Given the description of an element on the screen output the (x, y) to click on. 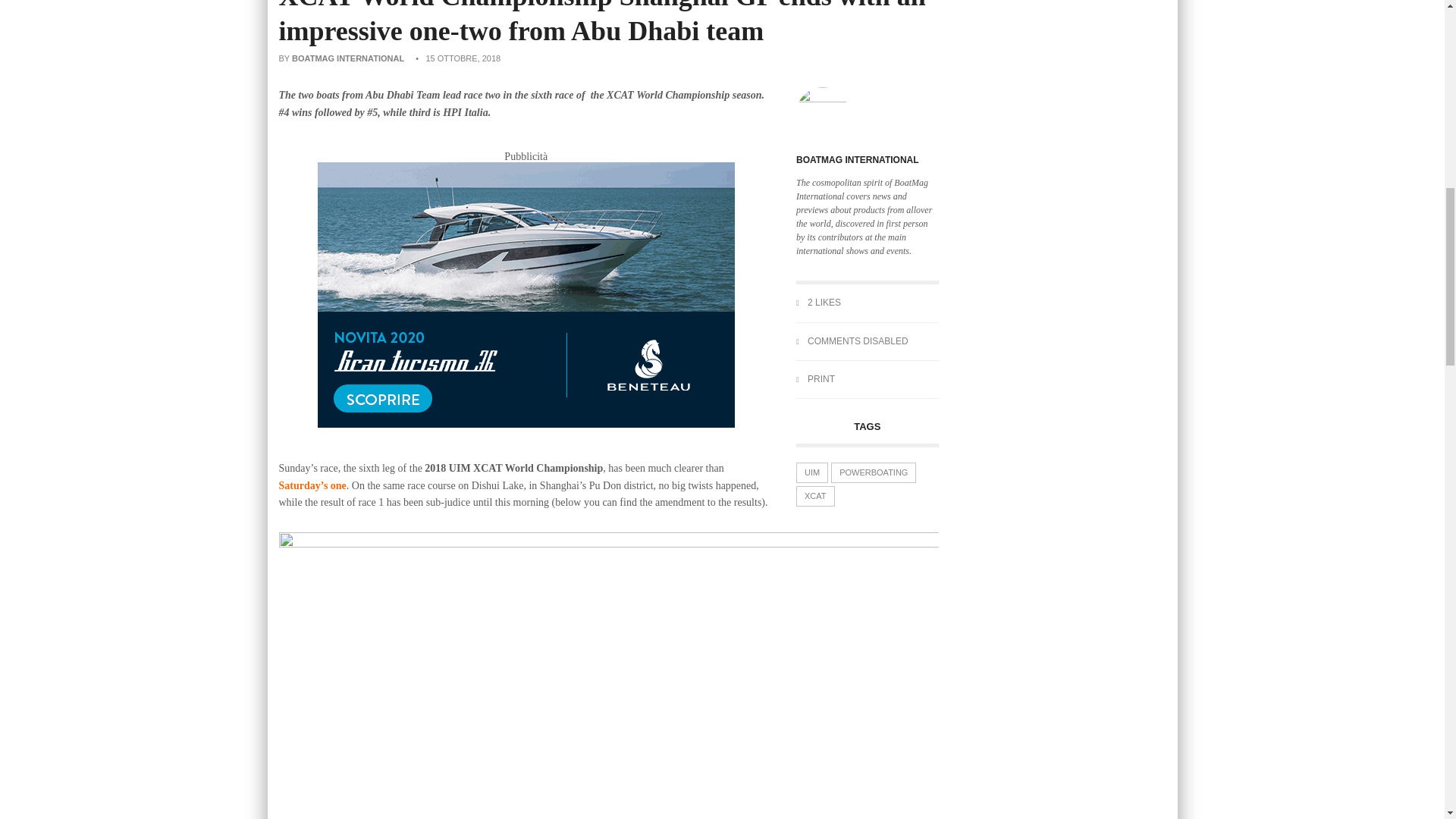
BOATMAG INTERNATIONAL (348, 58)
POWERBOATING (873, 472)
Articoli scritti da Boatmag International (348, 58)
UIM (812, 472)
Articoli scritti da Boatmag International (857, 159)
BOATMAG INTERNATIONAL (857, 159)
PRINT (815, 378)
2 (805, 302)
XCAT (815, 496)
